Given the description of an element on the screen output the (x, y) to click on. 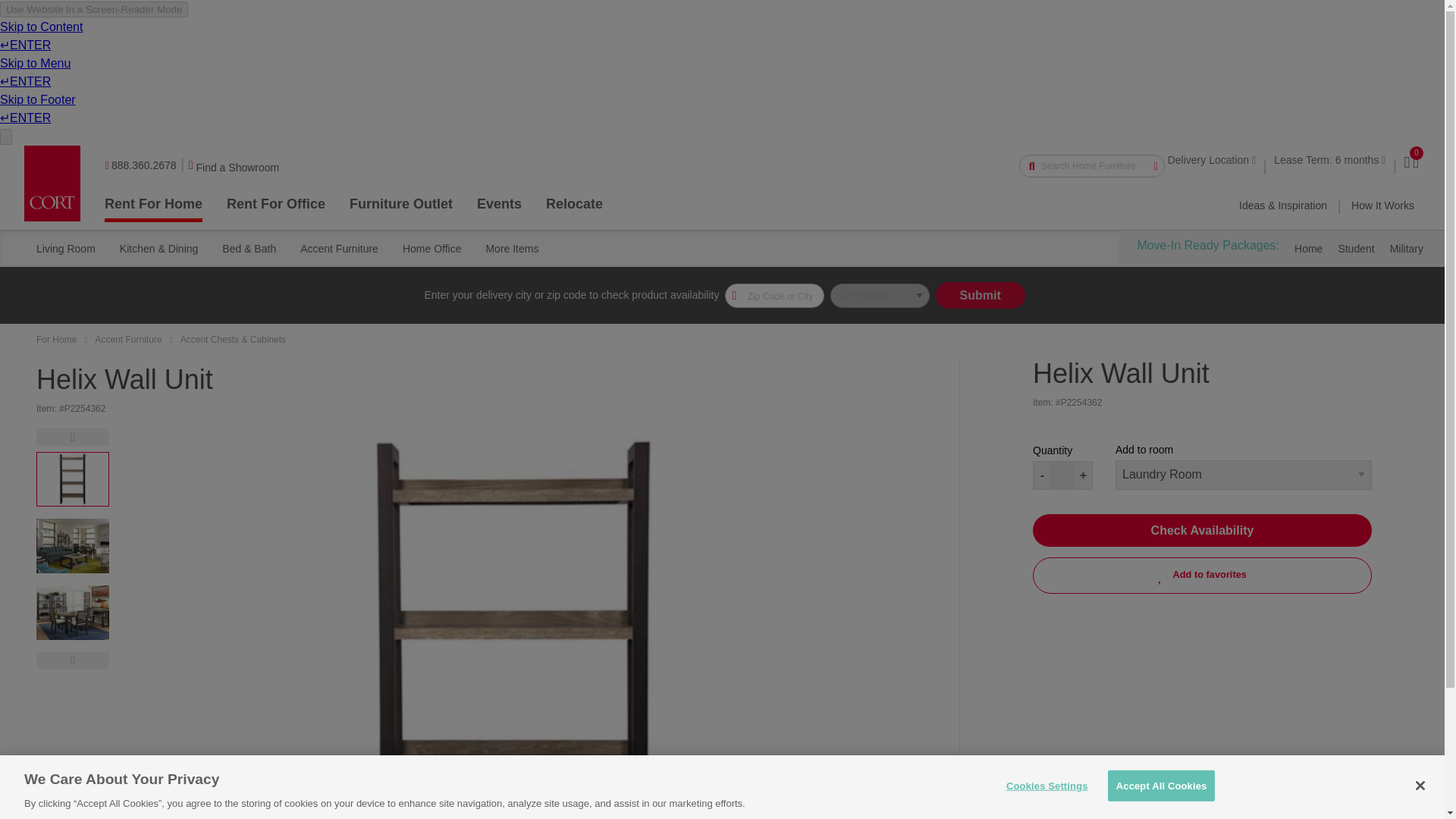
Rent For Home (153, 207)
Find a Showroom (235, 172)
open mini cart link (1415, 165)
888.360.2678 (140, 170)
